Given the description of an element on the screen output the (x, y) to click on. 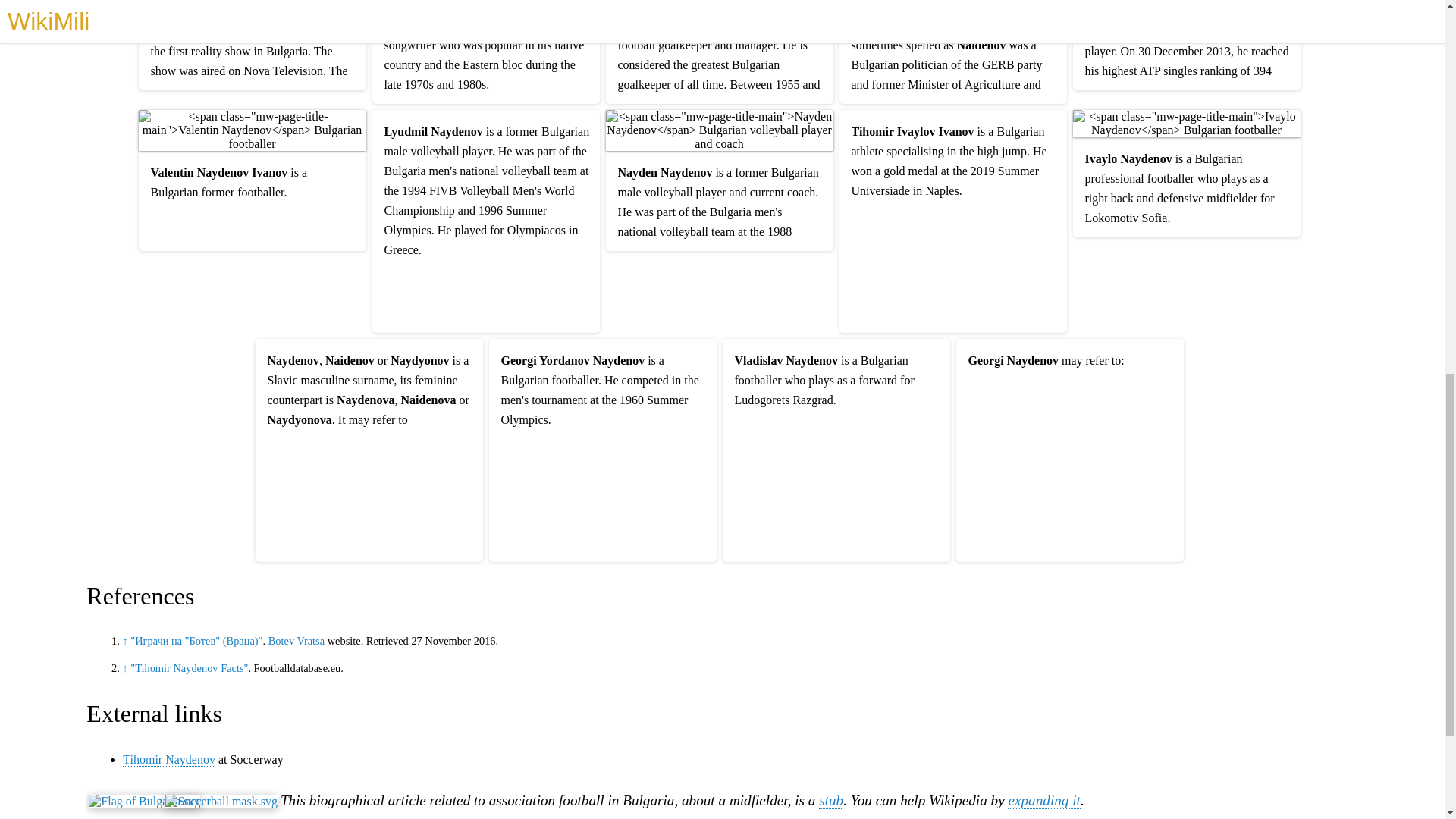
stub (830, 800)
Botev Vratsa (295, 640)
POFC Botev Vratsa (295, 640)
Wikipedia:Stub (830, 800)
"Tihomir Naydenov Facts" (189, 667)
expanding it (1043, 800)
Tihomir Naydenov (168, 759)
